Given the description of an element on the screen output the (x, y) to click on. 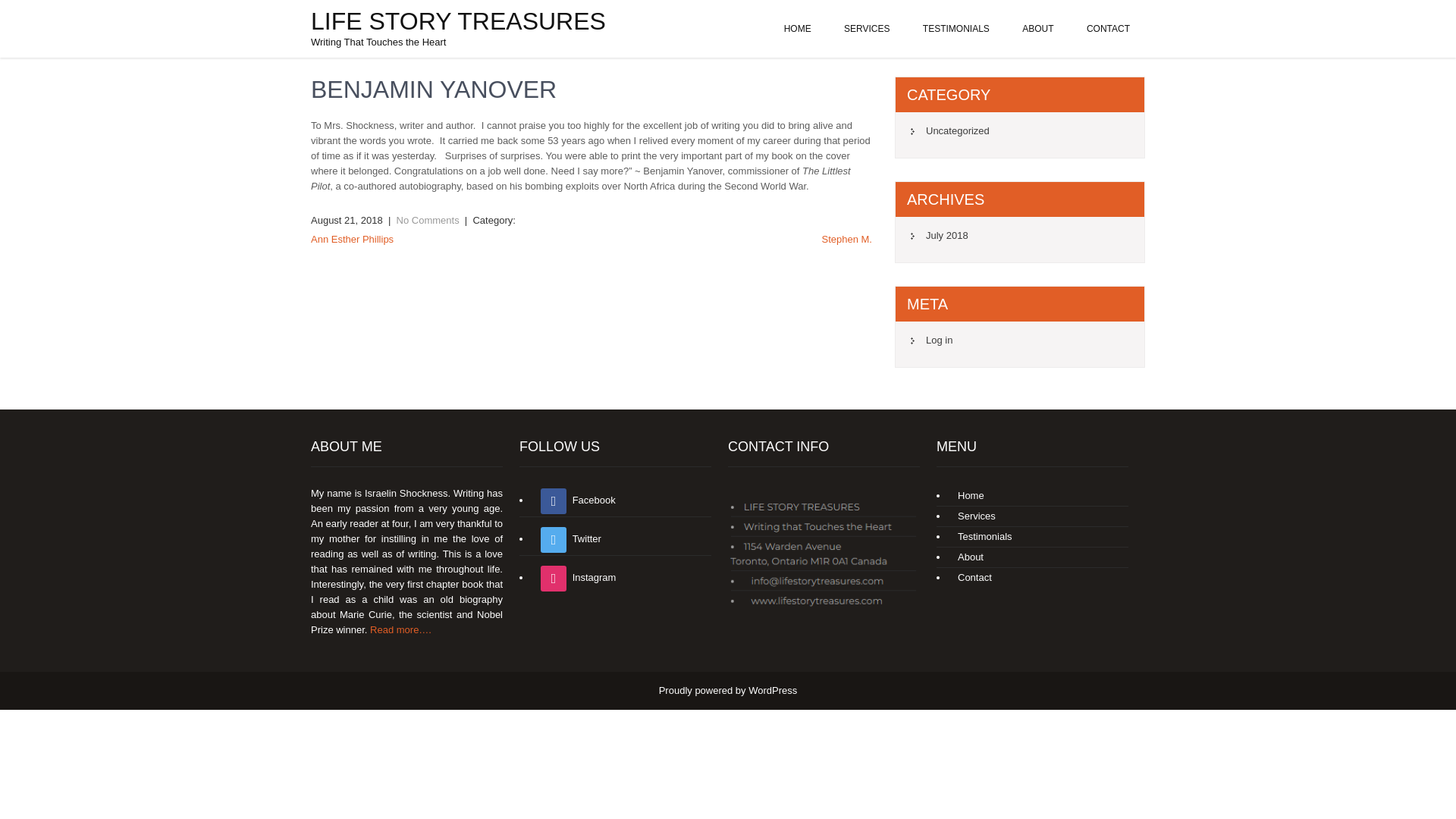
No Comments (428, 220)
About (967, 556)
CONTACT (1107, 28)
LIFE STORY TREASURES (458, 21)
Stephen M. (847, 238)
Log in (931, 339)
TESTIMONIALS (955, 28)
Testimonials (980, 536)
ABOUT (1037, 28)
Uncategorized (950, 130)
Instagram (573, 577)
July 2018 (939, 234)
Proudly powered by WordPress (728, 690)
Home (967, 495)
Ann Esther Phillips (352, 238)
